Given the description of an element on the screen output the (x, y) to click on. 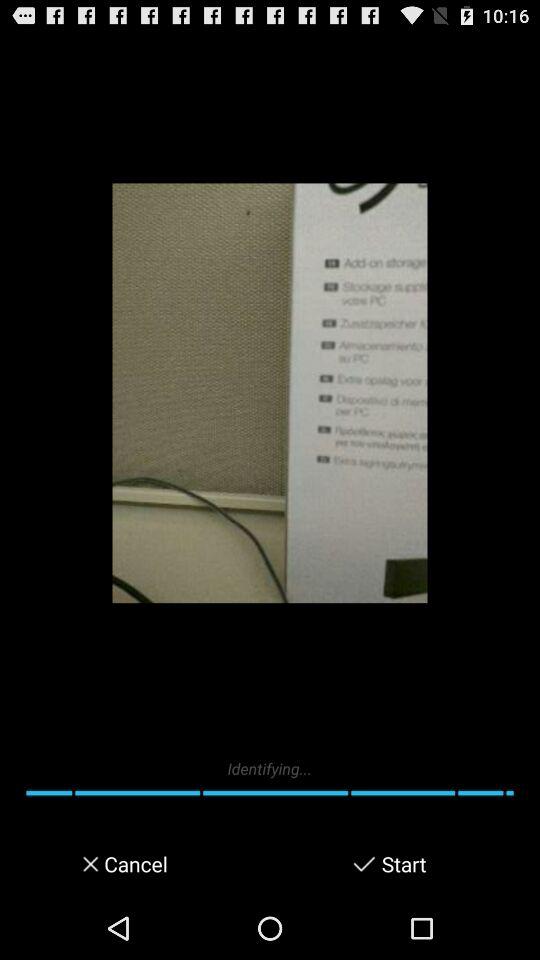
select item next to cancel app (83, 863)
